Given the description of an element on the screen output the (x, y) to click on. 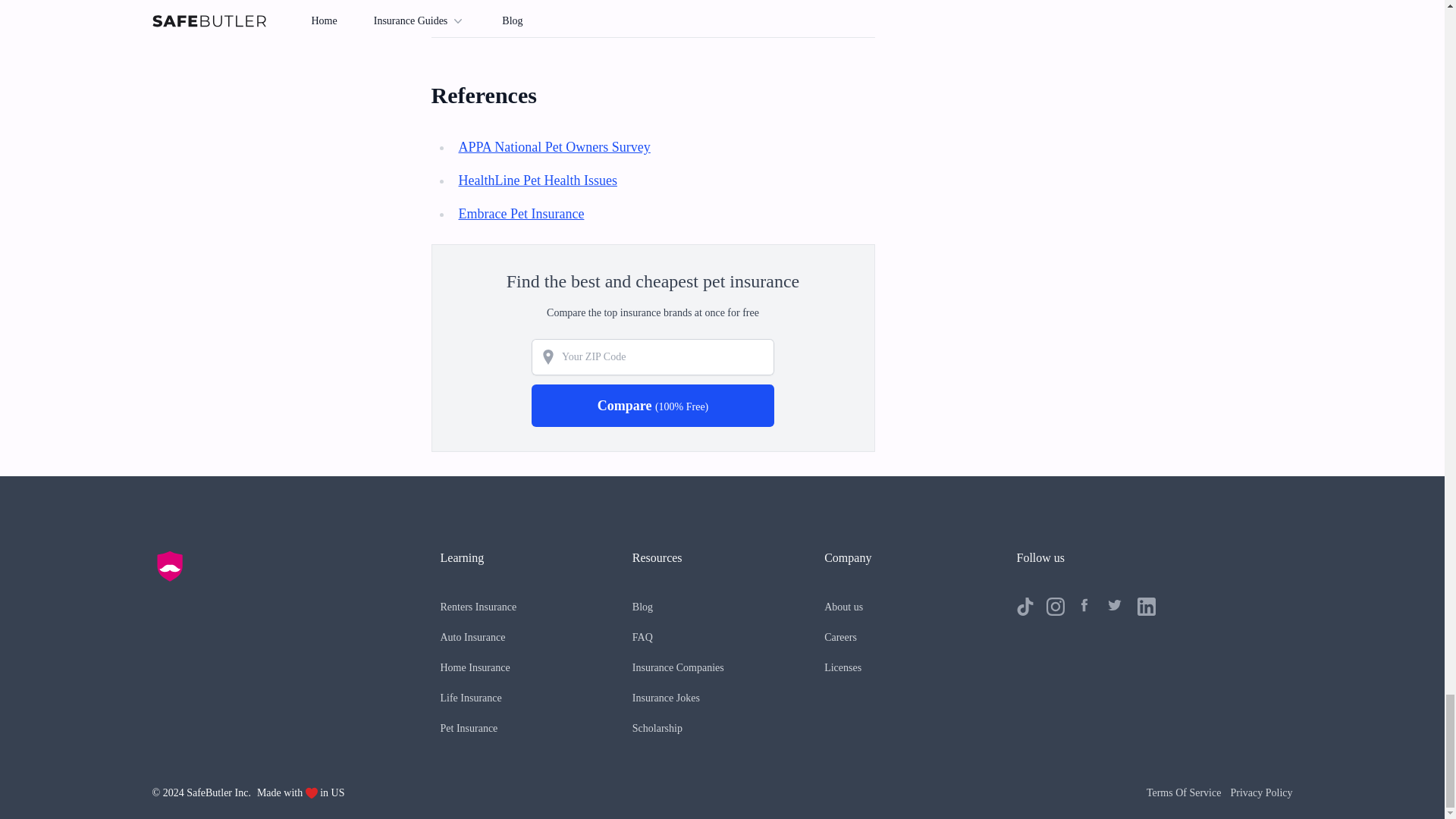
Home Insurance (474, 667)
Auto Insurance (472, 636)
HealthLine Pet Health Issues (536, 180)
APPA National Pet Owners Survey (553, 146)
Follow us on Instagram (1055, 606)
Follow us on TikTok (1024, 606)
Pet Insurance (468, 727)
Follow us on Twitter (1115, 606)
Follow us on LinkedIn (1146, 606)
Life Insurance (469, 697)
